Given the description of an element on the screen output the (x, y) to click on. 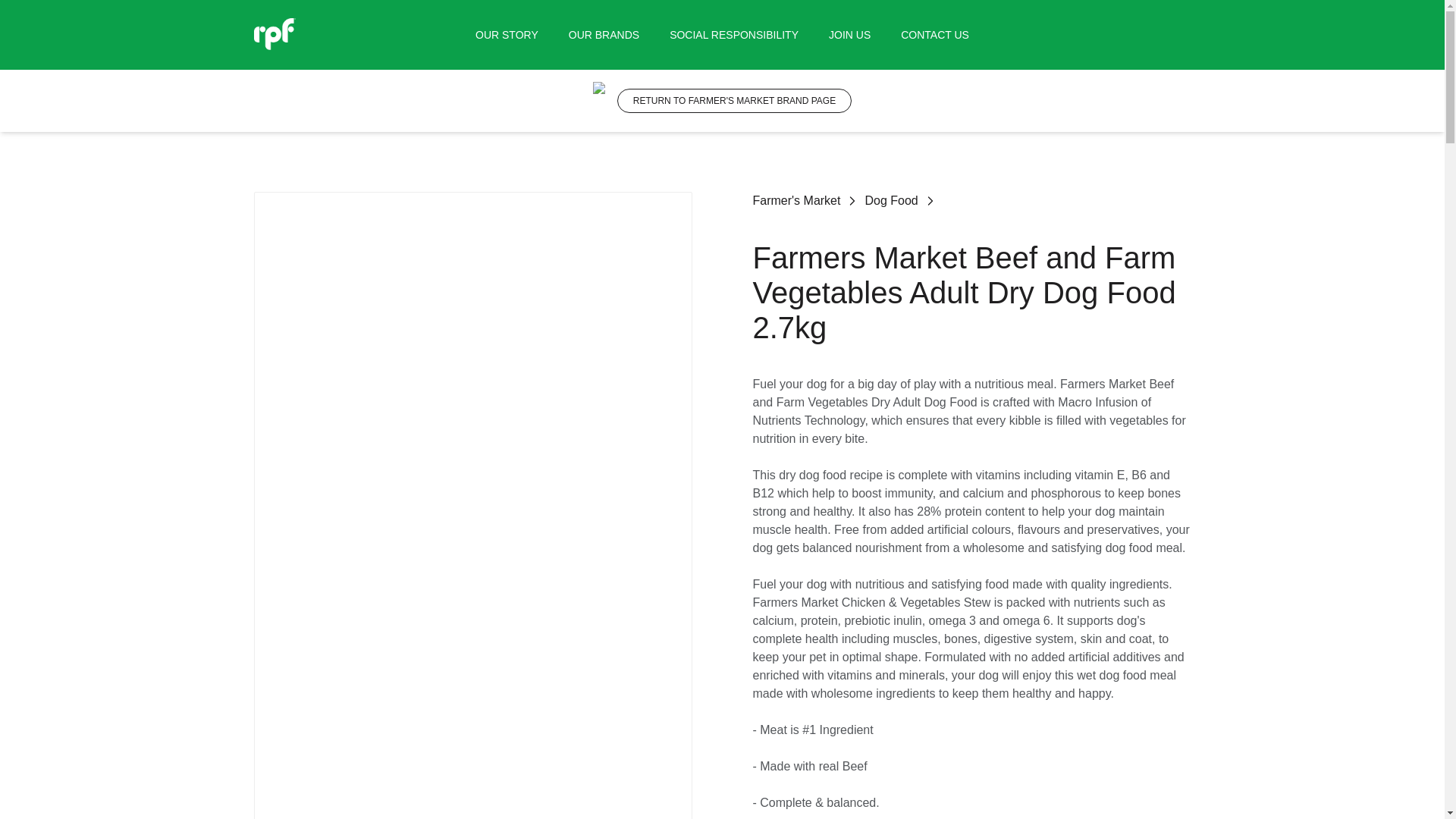
RETURN TO FARMER'S MARKET BRAND PAGE (734, 100)
CONTACT US (935, 34)
OUR STORY (507, 34)
JOIN US (849, 34)
OUR BRANDS (604, 34)
SOCIAL RESPONSIBILITY (733, 34)
Dog Food (890, 200)
Farmer's Market (796, 200)
